Given the description of an element on the screen output the (x, y) to click on. 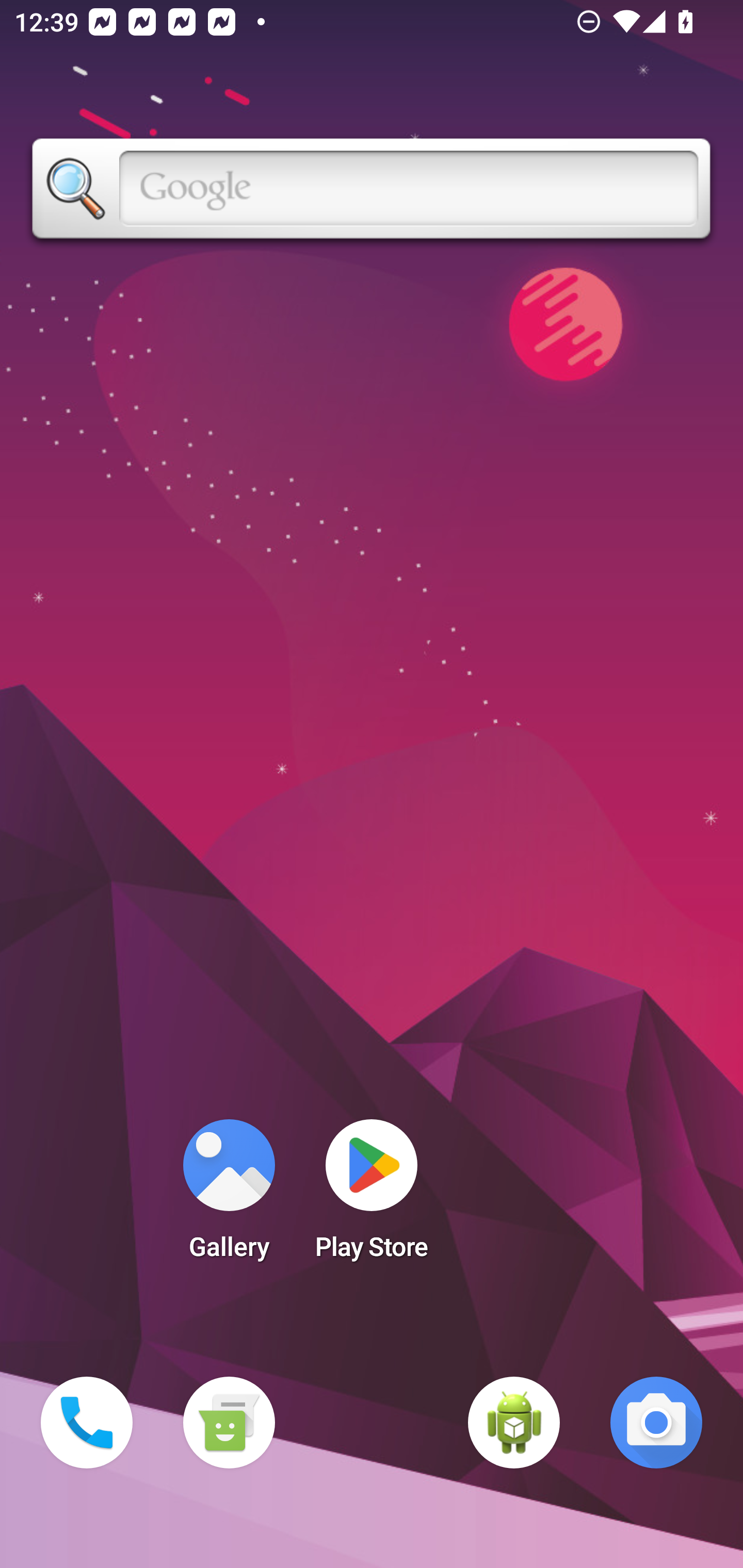
Gallery (228, 1195)
Play Store (371, 1195)
Phone (86, 1422)
Messaging (228, 1422)
WebView Browser Tester (513, 1422)
Camera (656, 1422)
